Given the description of an element on the screen output the (x, y) to click on. 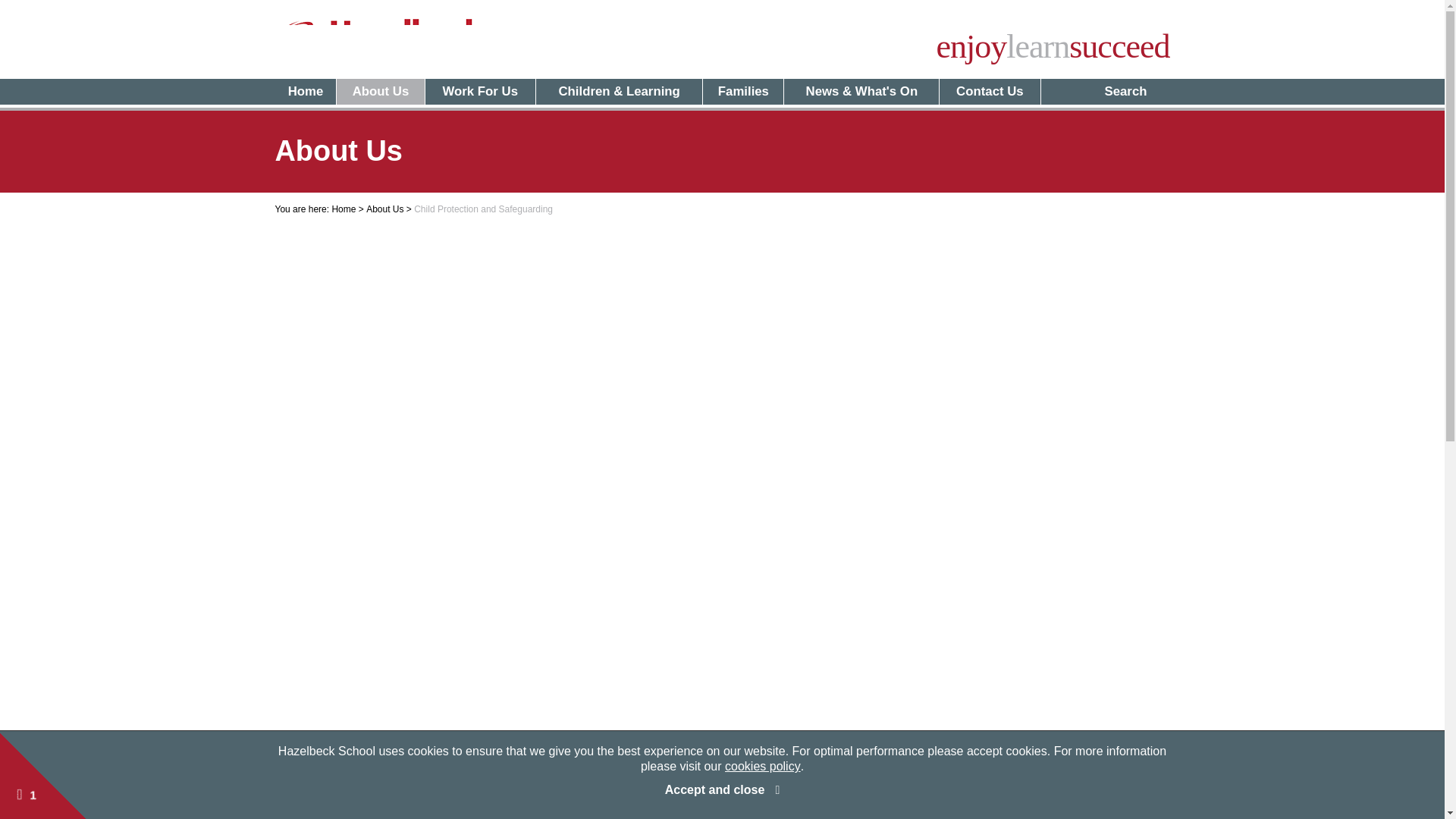
About Us (379, 91)
Families (742, 91)
Home (305, 91)
enjoylearnsucceed (1053, 46)
Work For Us (480, 91)
